Given the description of an element on the screen output the (x, y) to click on. 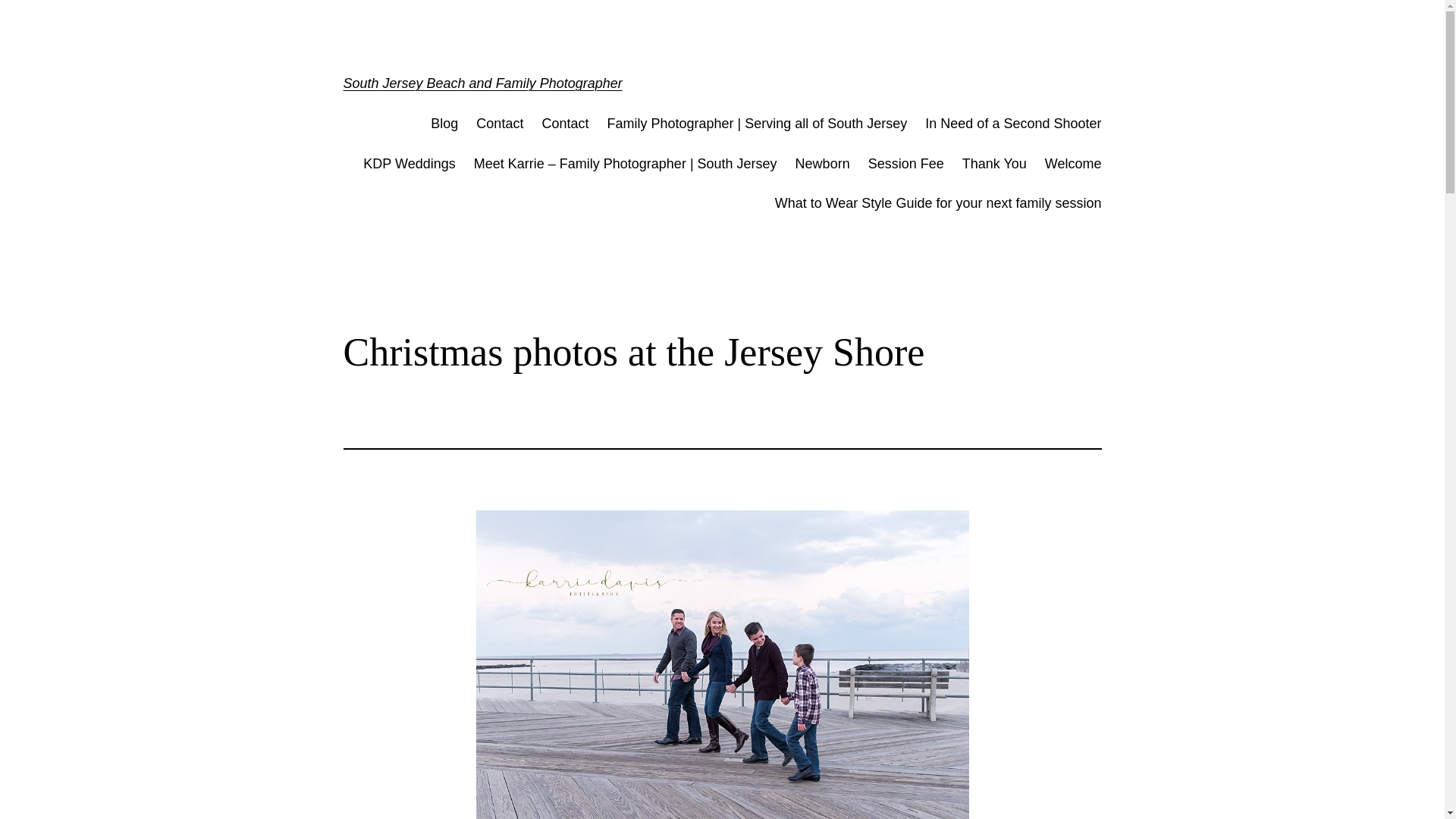
Session Fee (905, 164)
In Need of a Second Shooter (1012, 124)
Contact (564, 124)
What to Wear Style Guide for your next family session (938, 203)
Newborn (822, 164)
Thank You (994, 164)
Welcome (1073, 164)
Contact (499, 124)
South Jersey Beach and Family Photographer (481, 83)
KDP Weddings (408, 164)
